Given the description of an element on the screen output the (x, y) to click on. 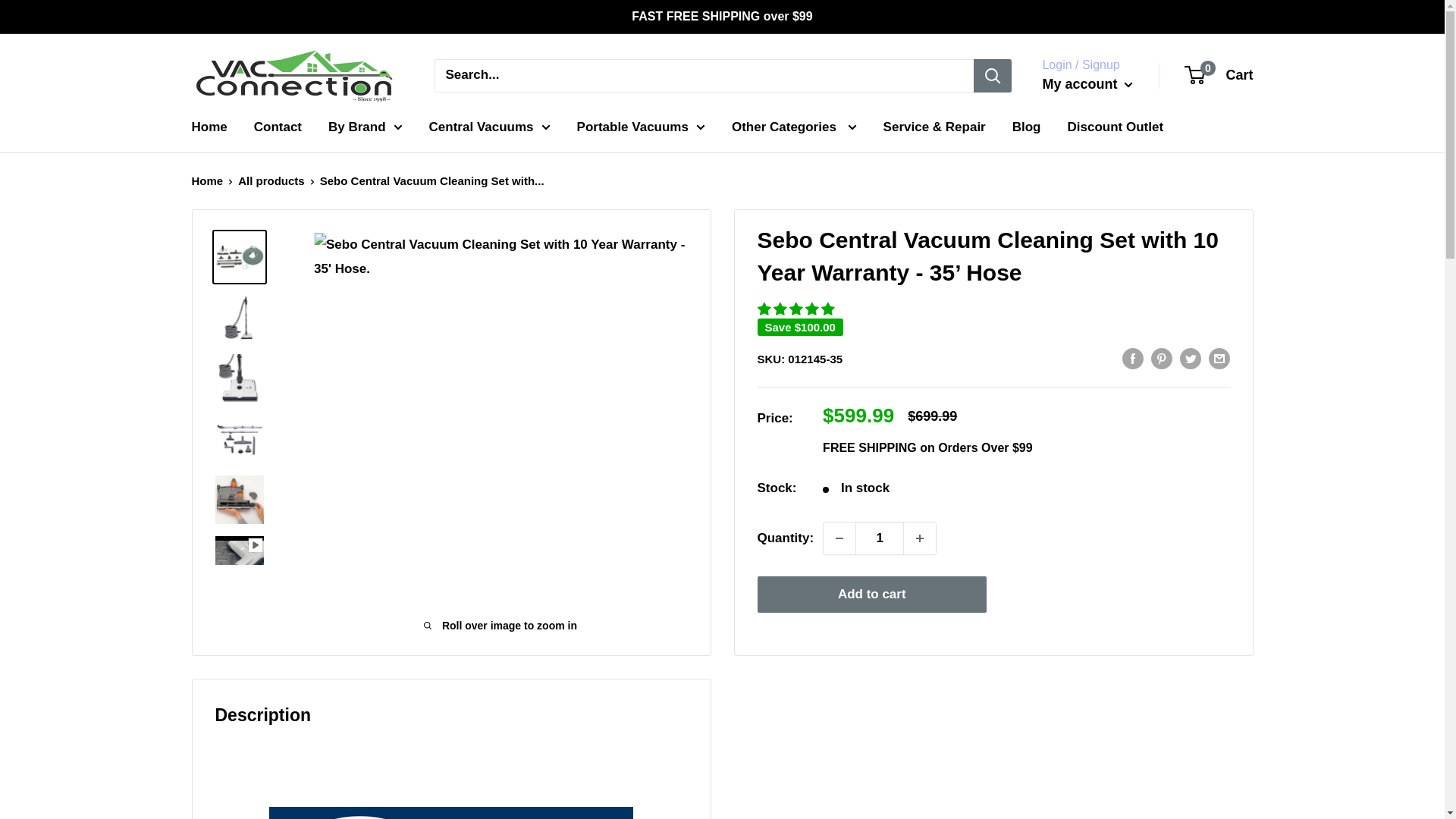
Decrease quantity by 1 (840, 538)
Increase quantity by 1 (920, 538)
1 (880, 538)
